Given the description of an element on the screen output the (x, y) to click on. 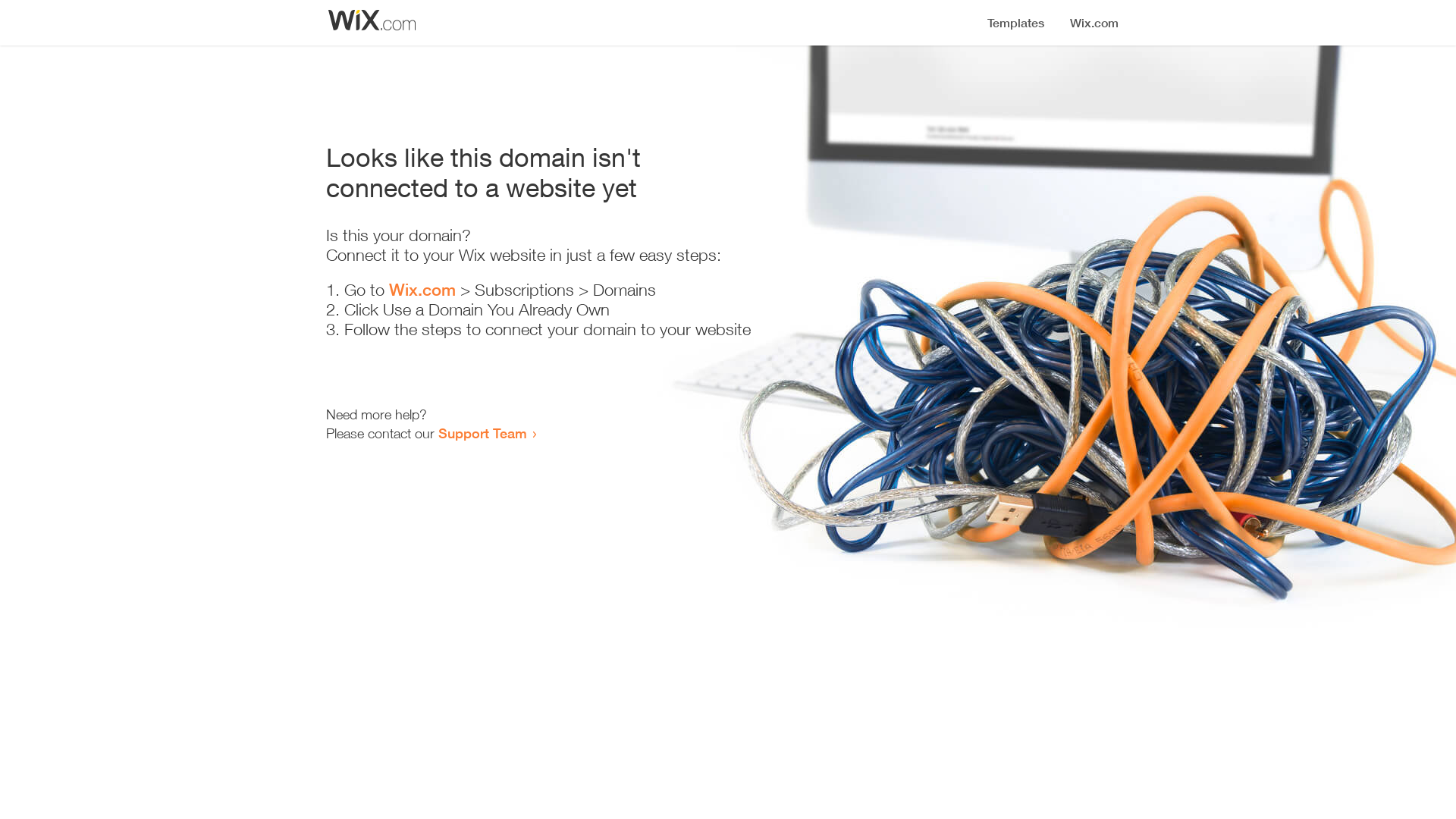
Support Team Element type: text (482, 432)
Wix.com Element type: text (422, 289)
